Given the description of an element on the screen output the (x, y) to click on. 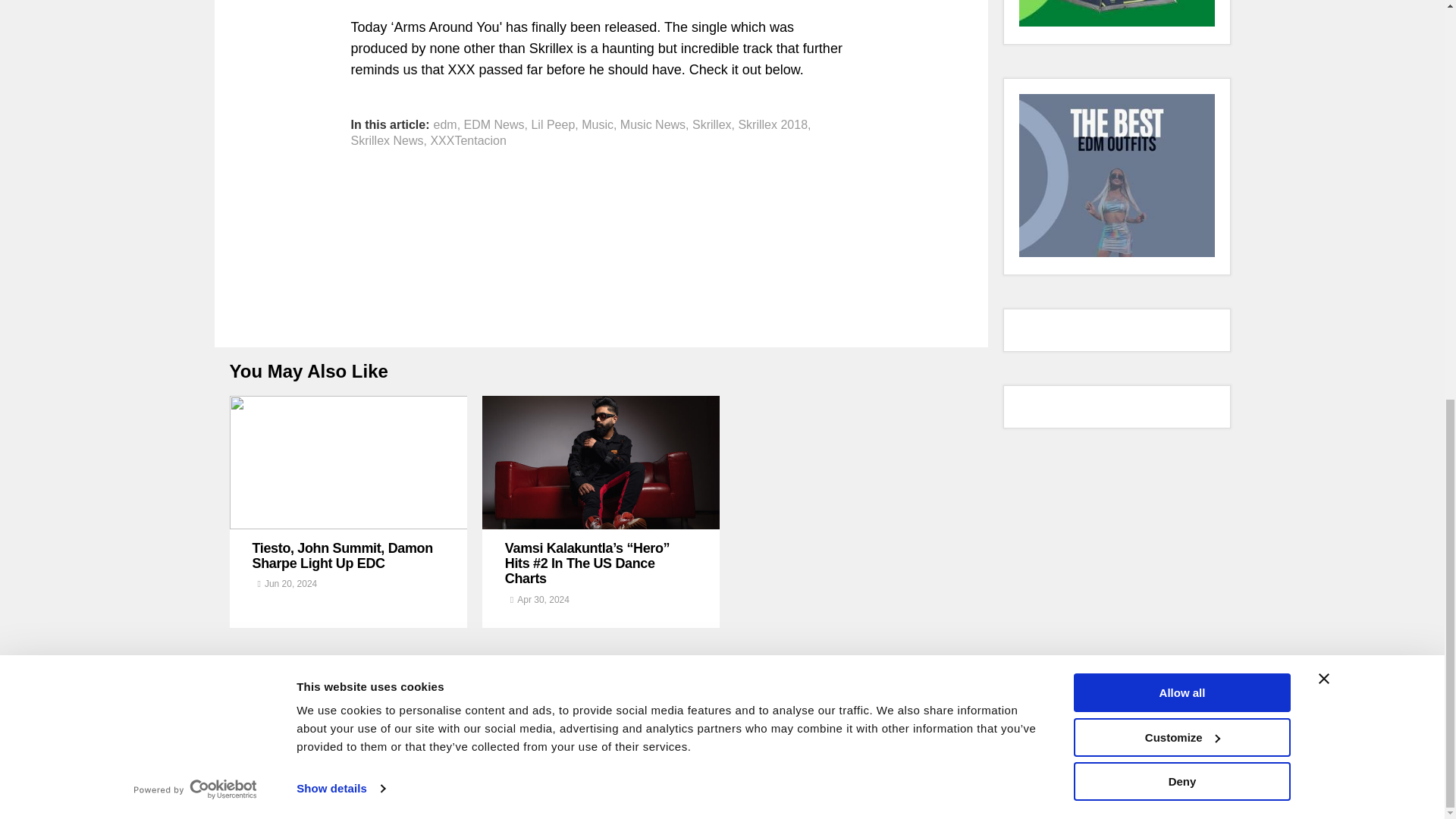
Show details (340, 9)
